Given the description of an element on the screen output the (x, y) to click on. 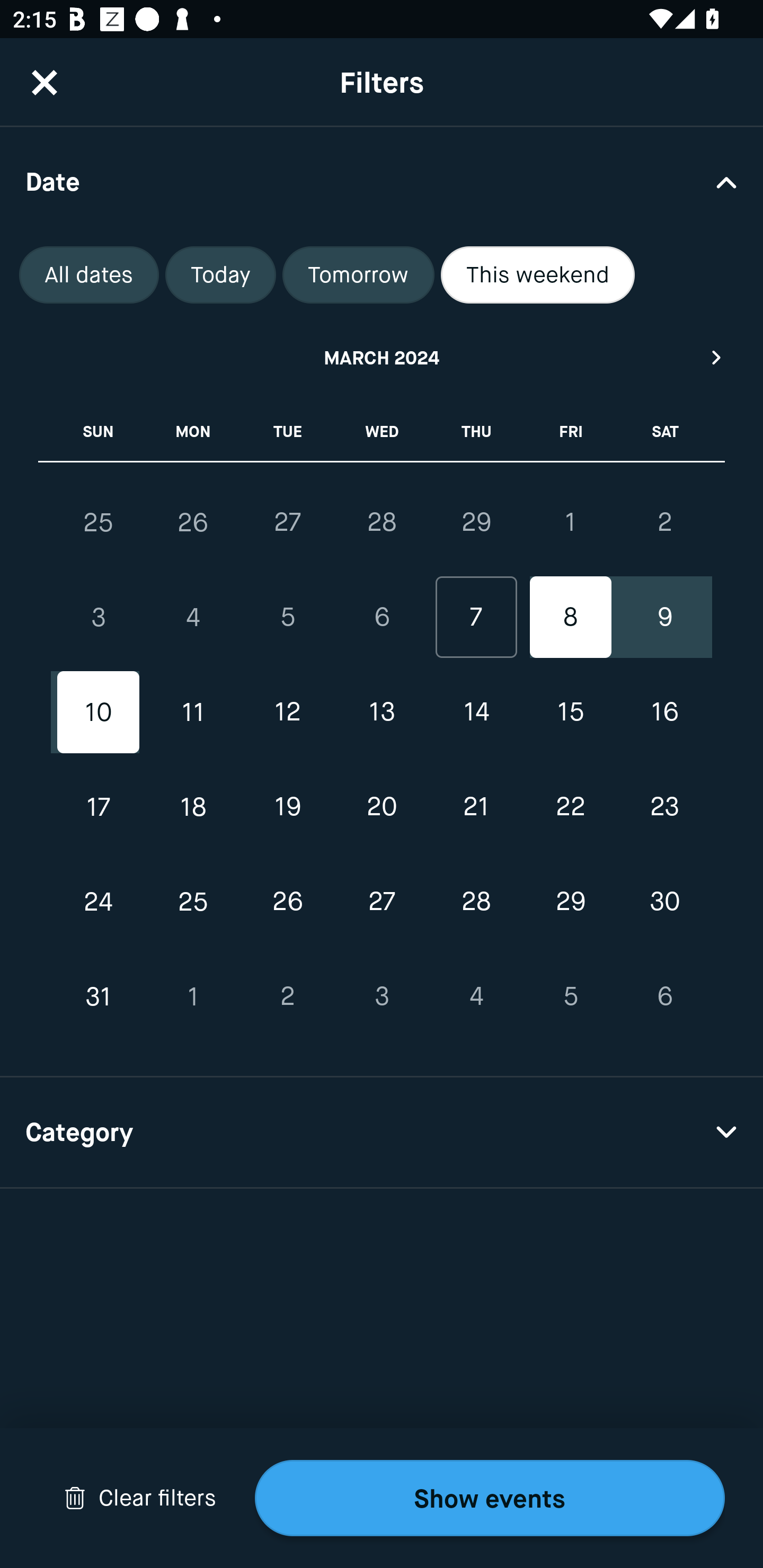
CloseButton (44, 82)
Date Drop Down Arrow (381, 181)
All dates (88, 274)
Today (220, 274)
Tomorrow (358, 274)
This weekend (537, 274)
Next (717, 357)
25 (98, 522)
26 (192, 522)
27 (287, 522)
28 (381, 522)
29 (475, 522)
1 (570, 522)
2 (664, 522)
3 (98, 617)
4 (192, 617)
5 (287, 617)
6 (381, 617)
7 (475, 617)
8 (570, 617)
9 (664, 617)
10 (98, 711)
11 (192, 711)
12 (287, 711)
13 (381, 711)
14 (475, 711)
15 (570, 711)
16 (664, 711)
17 (98, 806)
18 (192, 806)
19 (287, 806)
20 (381, 806)
21 (475, 806)
22 (570, 806)
23 (664, 806)
24 (98, 901)
25 (192, 901)
26 (287, 901)
27 (381, 901)
28 (475, 901)
29 (570, 901)
30 (664, 901)
31 (98, 996)
1 (192, 996)
2 (287, 996)
3 (381, 996)
4 (475, 996)
5 (570, 996)
6 (664, 996)
Category Drop Down Arrow (381, 1132)
Drop Down Arrow Clear filters (139, 1497)
Show events (489, 1497)
